Given the description of an element on the screen output the (x, y) to click on. 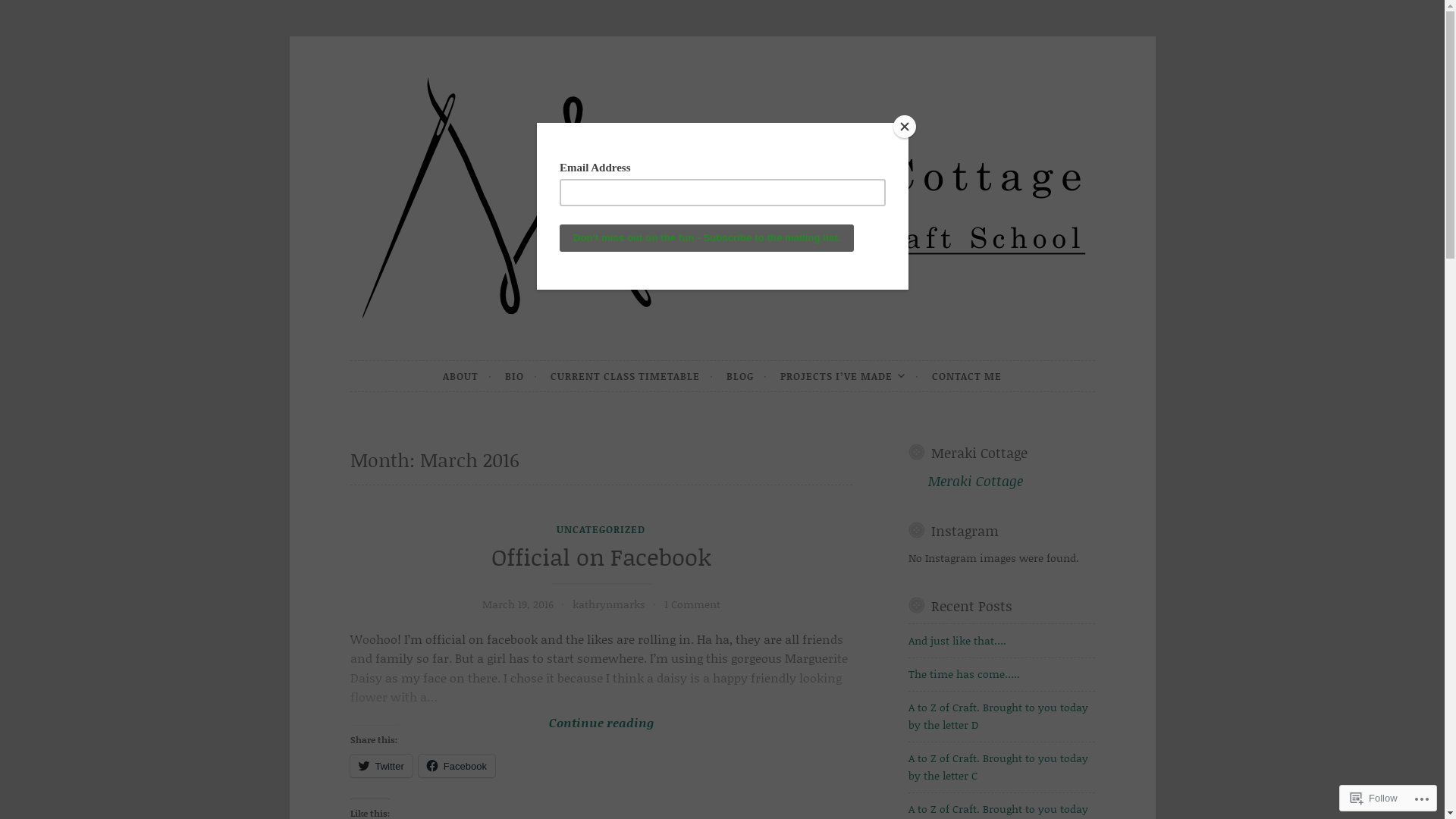
A to Z of Craft. Brought to you today by the letter C Element type: text (998, 765)
Search Element type: text (31, 14)
Continue reading Element type: text (601, 684)
Twitter Element type: text (381, 765)
CURRENT CLASS TIMETABLE Element type: text (631, 375)
Official on Facebook Element type: text (601, 555)
BLOG Element type: text (746, 375)
A to Z of Craft. Brought to you today by the letter D Element type: text (998, 715)
BIO Element type: text (521, 375)
Meraki Cottage Element type: text (481, 359)
Meraki Cottage Element type: text (979, 452)
Follow Element type: text (1373, 797)
kathrynmarks Element type: text (608, 603)
ABOUT Element type: text (467, 375)
March 19, 2016 Element type: text (517, 603)
Meraki Cottage Element type: text (975, 480)
1 Comment Element type: text (692, 603)
UNCATEGORIZED Element type: text (600, 529)
CONTACT ME Element type: text (966, 375)
Facebook Element type: text (456, 765)
